Given the description of an element on the screen output the (x, y) to click on. 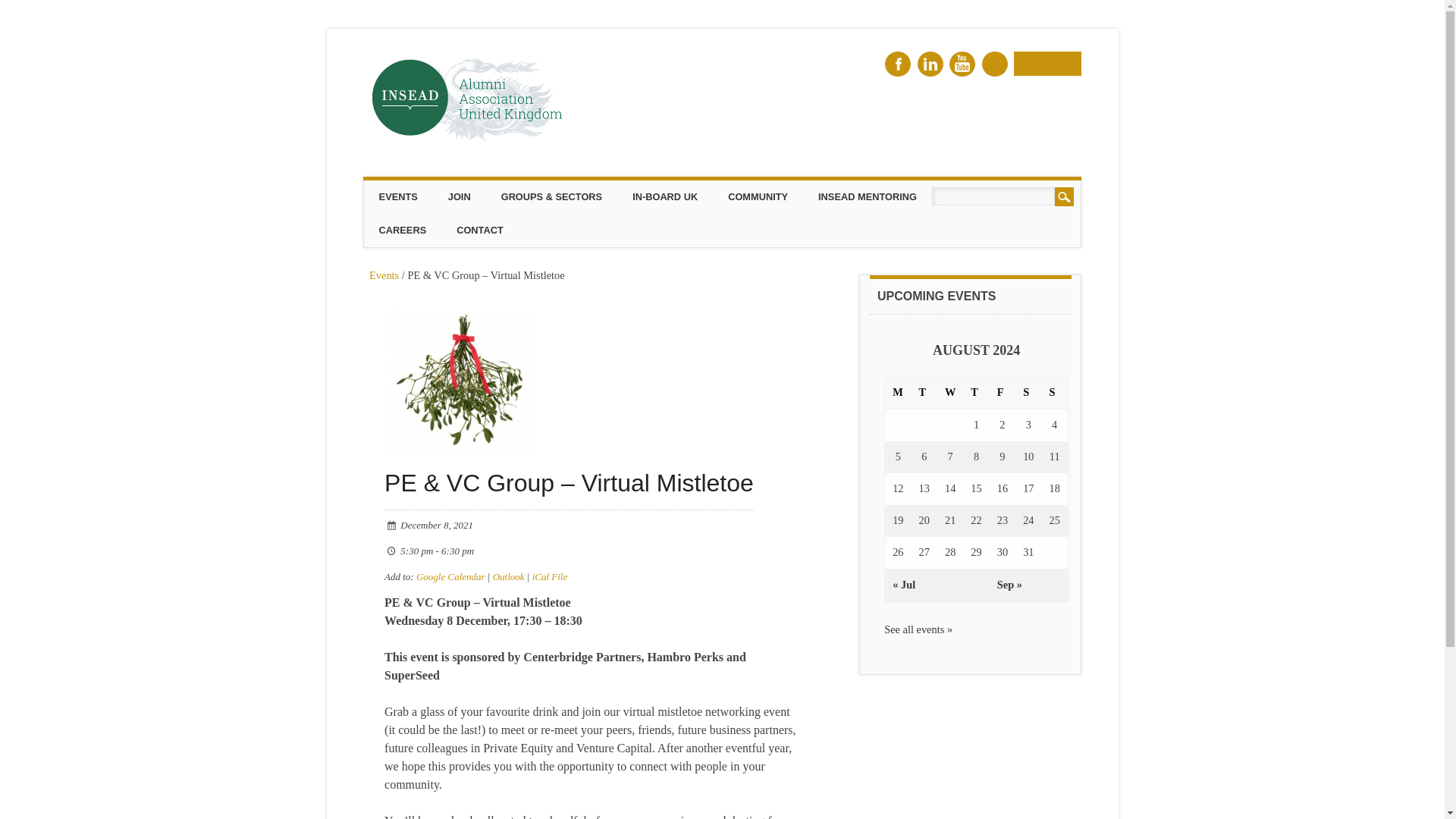
CONTACT (479, 230)
IN-BOARD UK (665, 196)
See all events (383, 275)
INSEAD MENTORING (867, 196)
INSEAD Alumni Association UK (478, 152)
Email (1047, 63)
Events (383, 275)
COMMUNITY (758, 196)
Youtube (962, 63)
Outlook (508, 576)
